Given the description of an element on the screen output the (x, y) to click on. 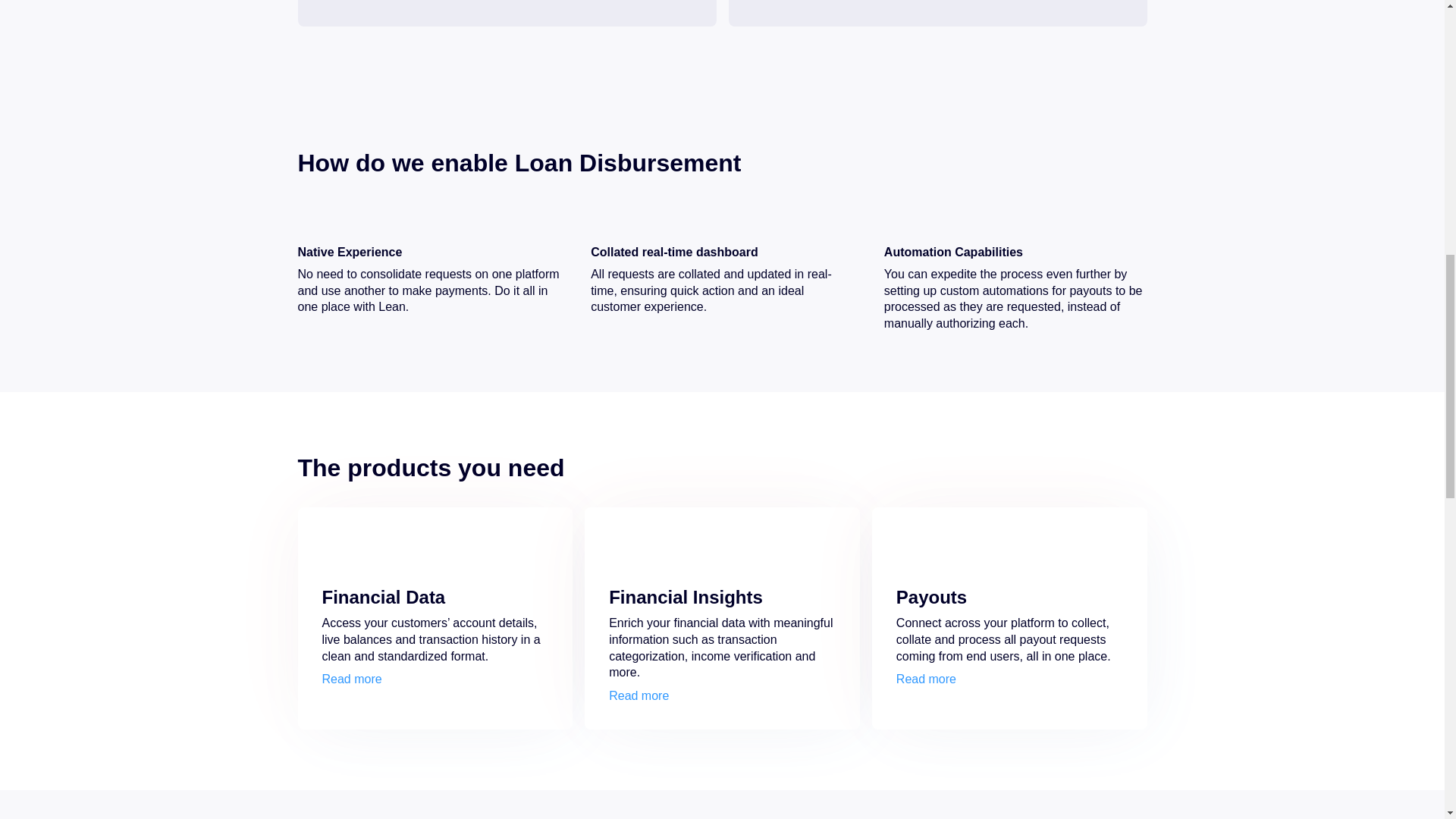
Read more (638, 696)
Read more (351, 679)
Read more (926, 679)
